Given the description of an element on the screen output the (x, y) to click on. 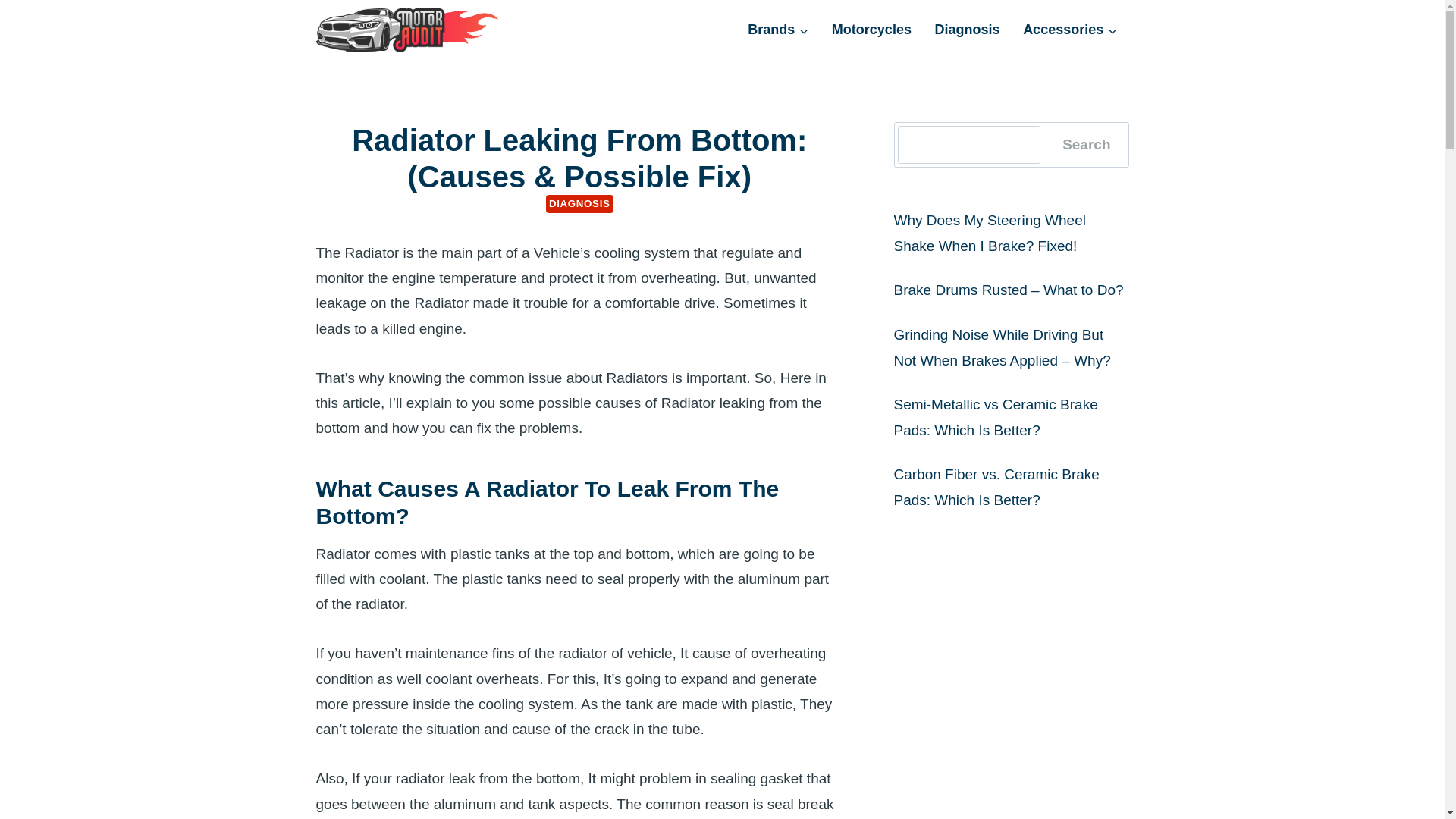
Why Does My Steering Wheel Shake When I Brake? Fixed! (988, 232)
Brands (778, 29)
DIAGNOSIS (579, 203)
Diagnosis (967, 29)
Search (1086, 144)
Motorcycles (872, 29)
Accessories (1070, 29)
